Given the description of an element on the screen output the (x, y) to click on. 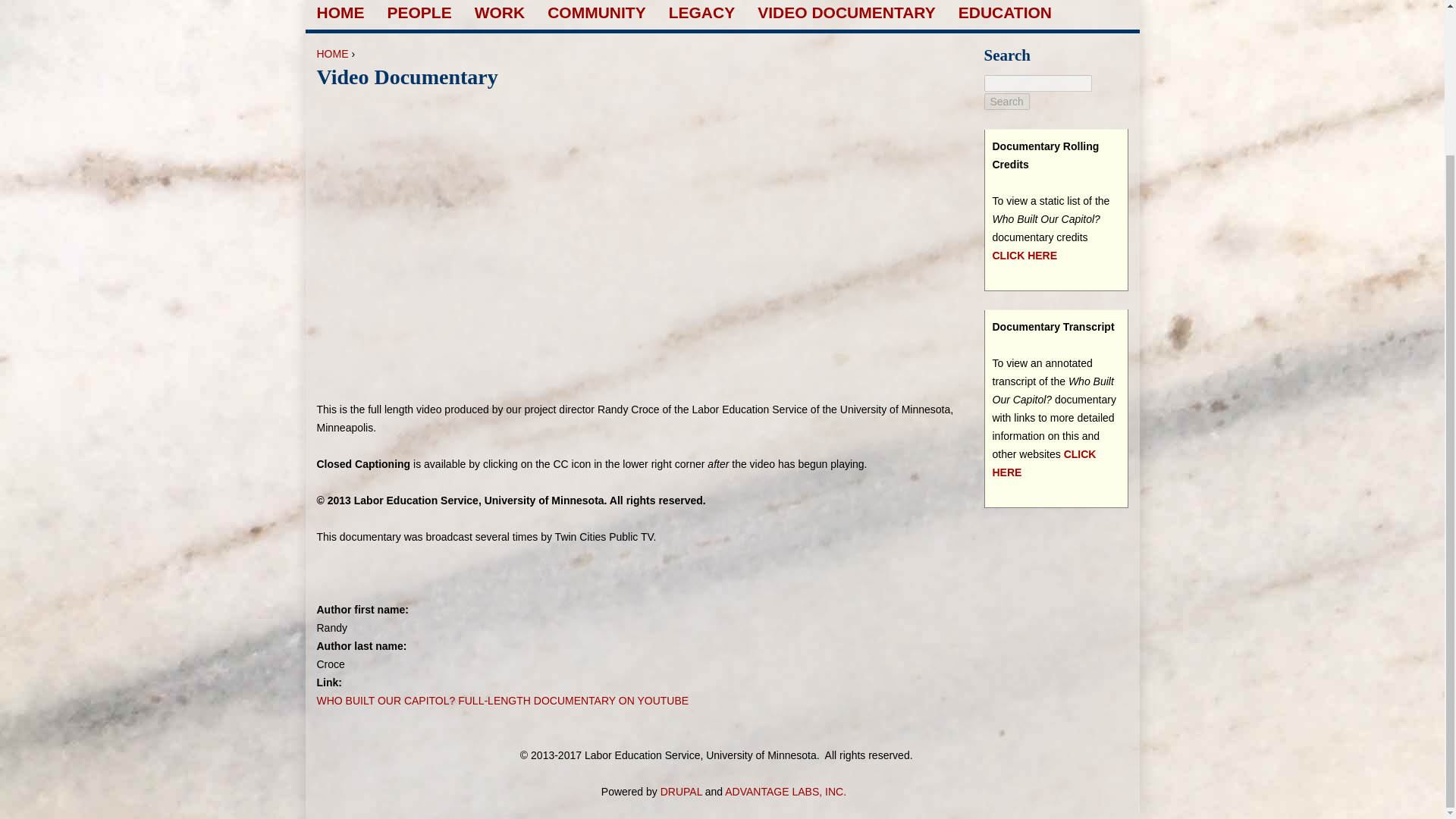
ADVANTAGE LABS, INC. (785, 791)
COMMUNITY (596, 12)
VIDEO DOCUMENTARY (846, 12)
DRUPAL (681, 791)
Advantage Labs - Drupal hosting, support, and training (785, 791)
WHO BUILT OUR CAPITOL? FULL-LENGTH DOCUMENTARY ON YOUTUBE (502, 700)
CLICK HERE (1024, 255)
Search (1006, 101)
HOME (333, 53)
Search (1006, 101)
WORK (499, 12)
Enter the terms you wish to search for. (1038, 83)
HOME (341, 12)
CLICK HERE (1043, 462)
